Given the description of an element on the screen output the (x, y) to click on. 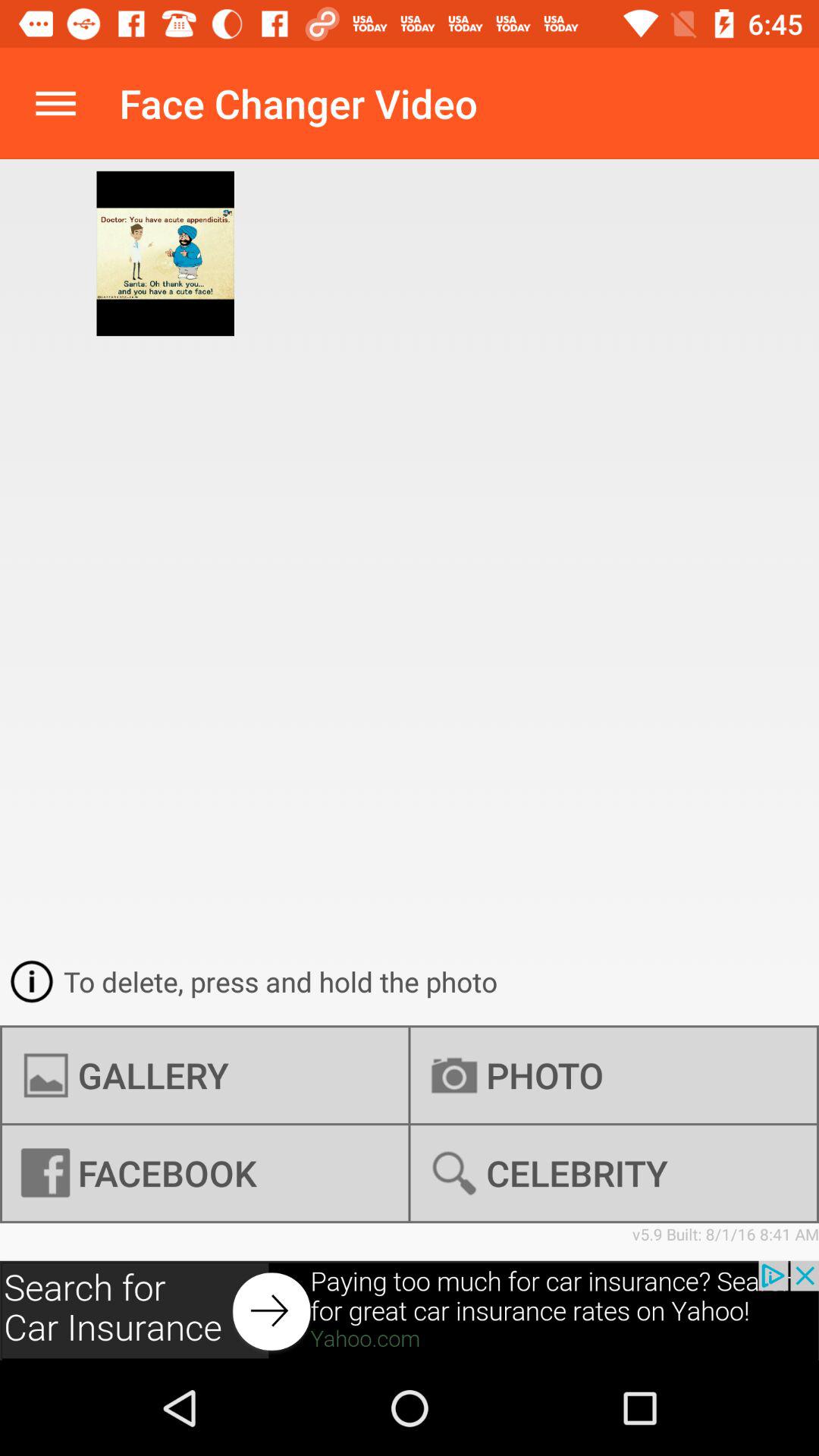
options button (55, 103)
